Given the description of an element on the screen output the (x, y) to click on. 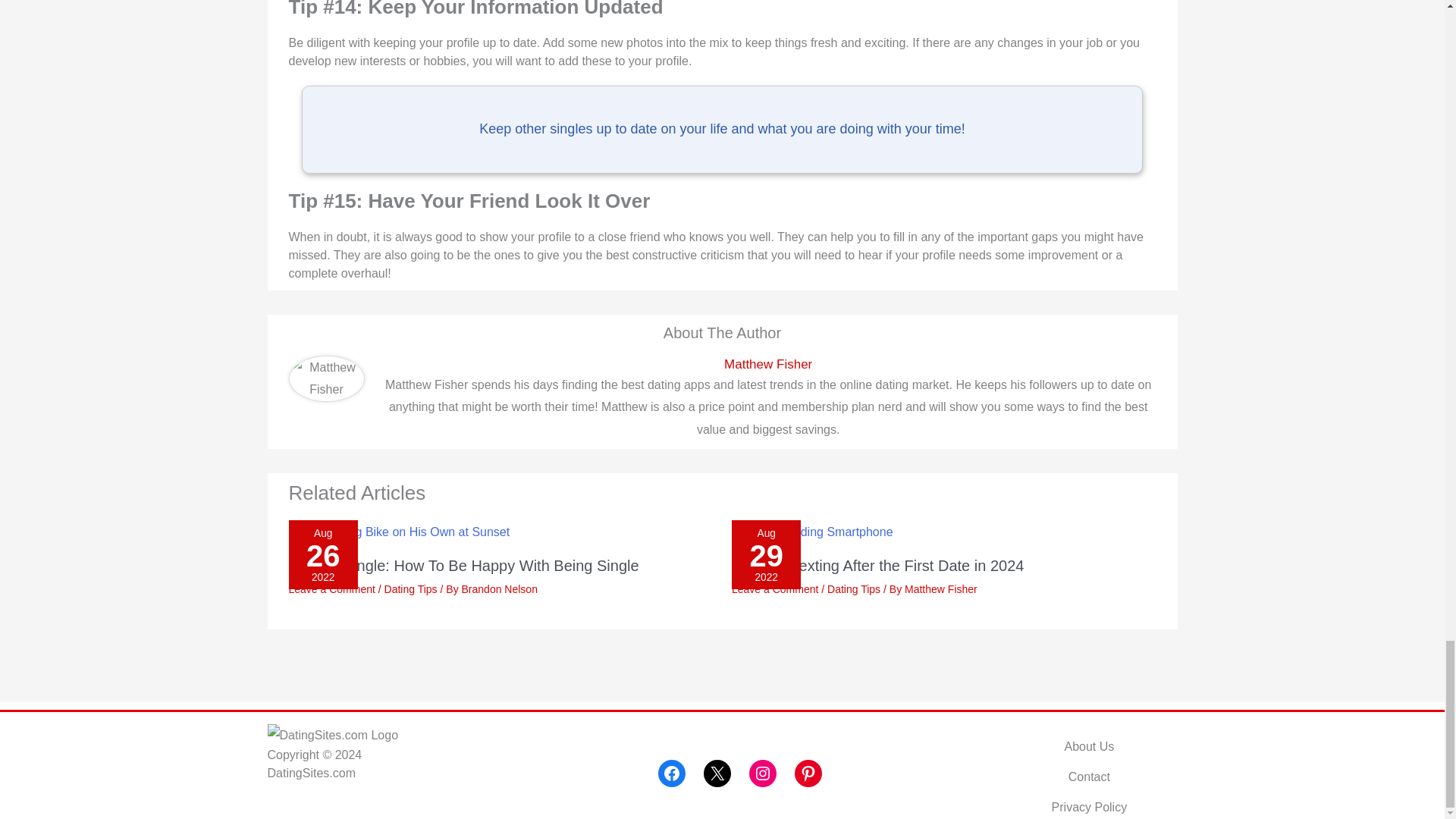
View all posts by Matthew Fisher (940, 589)
DatingSites.com Logo (331, 734)
View all posts by Brandon Nelson (499, 589)
